Given the description of an element on the screen output the (x, y) to click on. 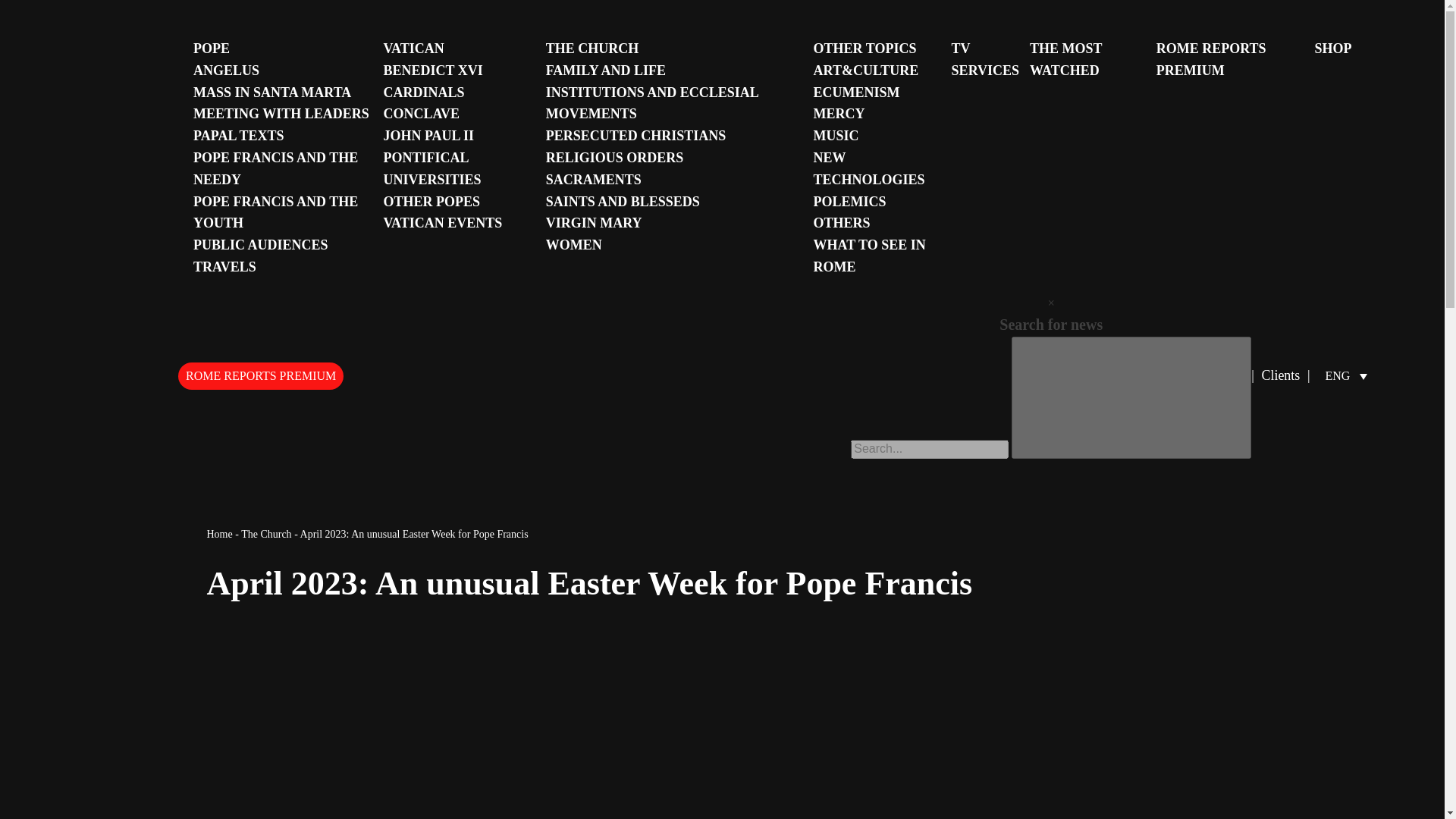
WOMEN (574, 244)
THE CHURCH (592, 48)
VATICAN (413, 48)
BENEDICT XVI (431, 70)
POPE FRANCIS AND THE NEEDY (275, 168)
VIRGIN MARY (594, 222)
OTHER POPES (431, 201)
MASS IN SANTA MARTA (271, 92)
VATICAN EVENTS (442, 222)
CARDINALS (423, 92)
